Given the description of an element on the screen output the (x, y) to click on. 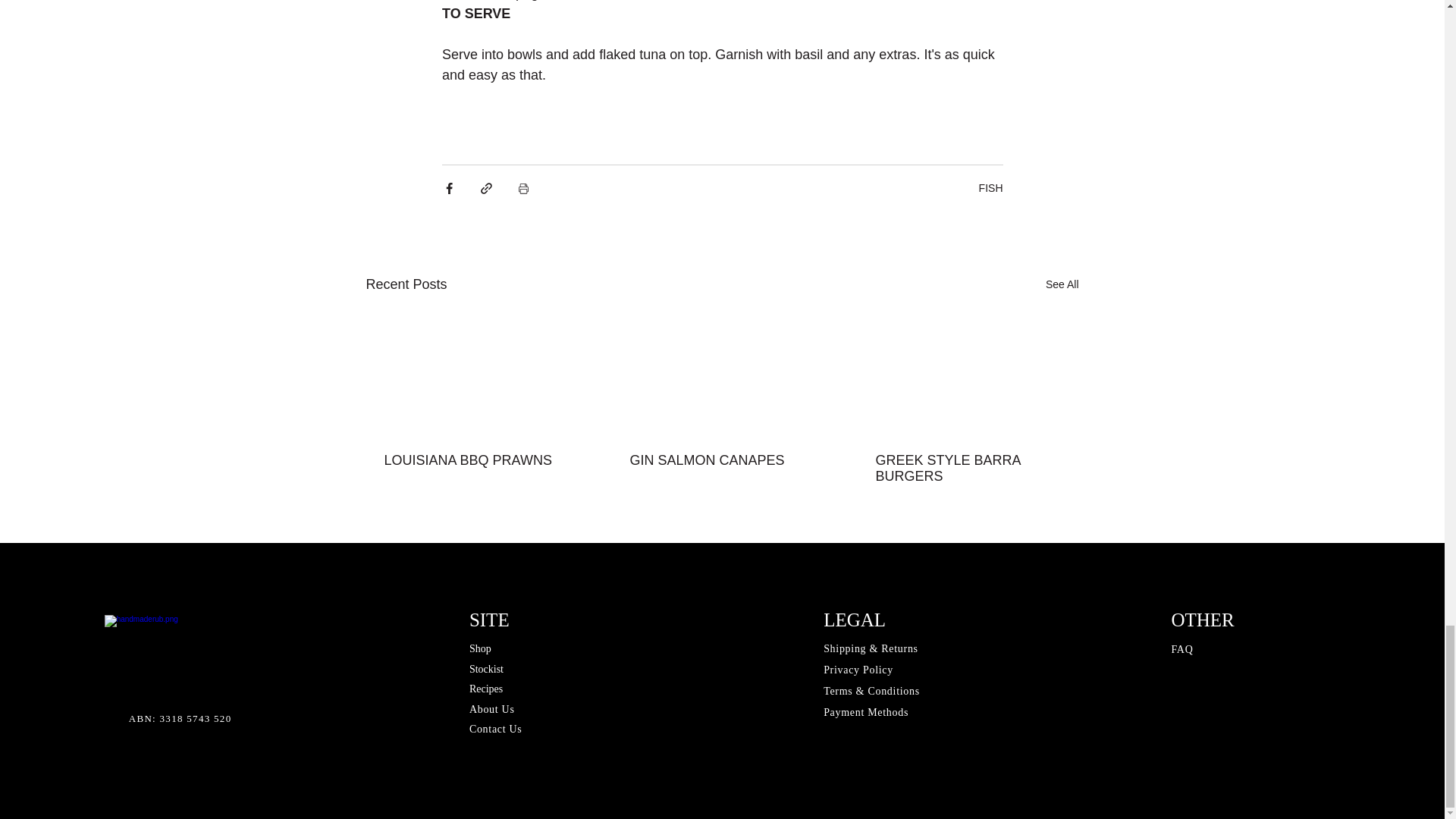
Contact Us (495, 728)
Payment Methods (866, 712)
About Us  (493, 708)
LEGAL (854, 619)
Recipes (485, 688)
See All (1061, 284)
Shop (480, 648)
FAQ (1181, 649)
GREEK STYLE BARRA BURGERS (966, 468)
Privacy Policy (858, 669)
Stockist (485, 668)
SITE (488, 619)
LOUISIANA BBQ PRAWNS (475, 460)
FISH (990, 187)
GIN SALMON CANAPES (720, 460)
